Given the description of an element on the screen output the (x, y) to click on. 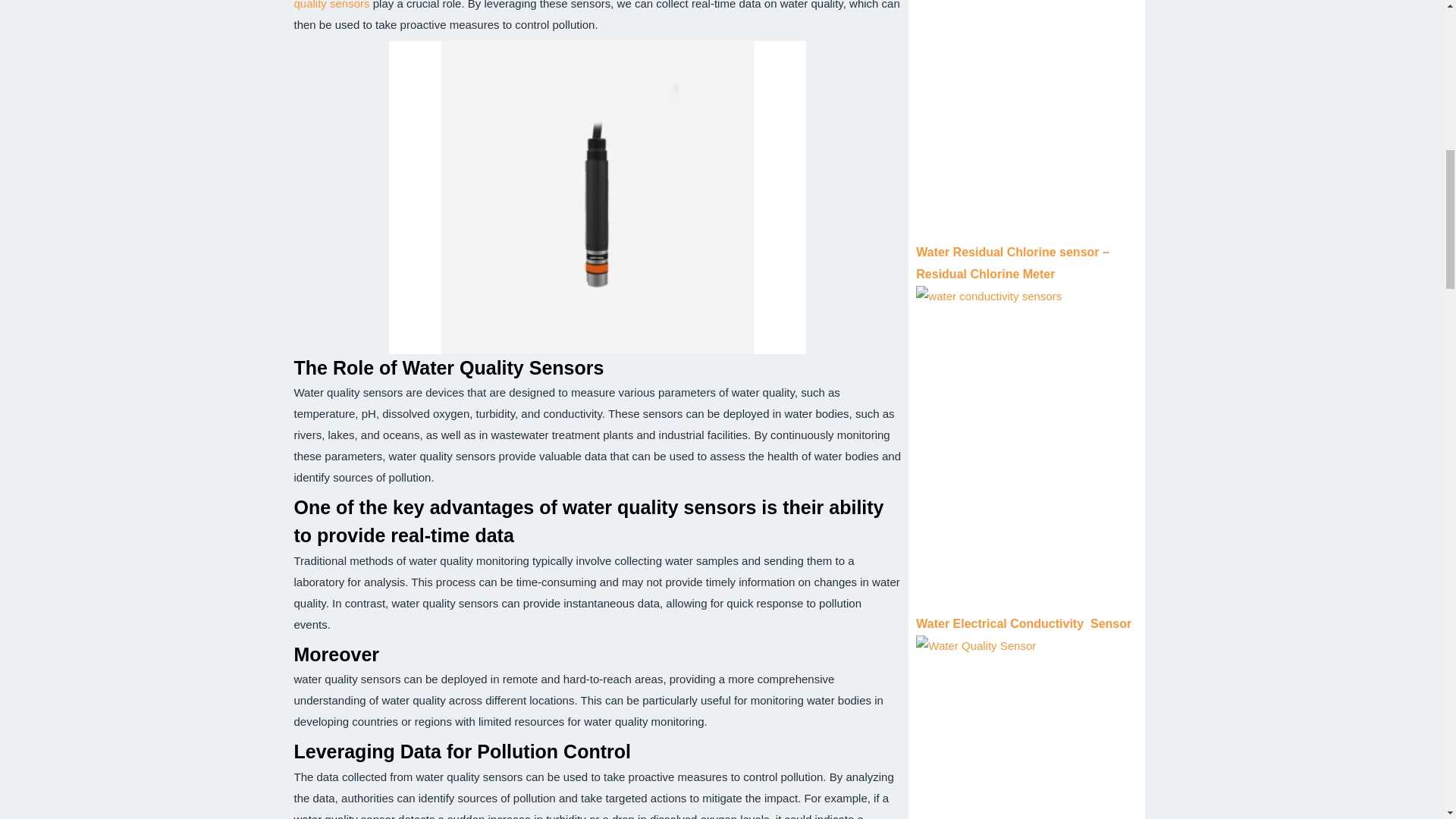
Water Electrical Conductivity  Sensor (1023, 623)
water quality sensors (585, 4)
